Given the description of an element on the screen output the (x, y) to click on. 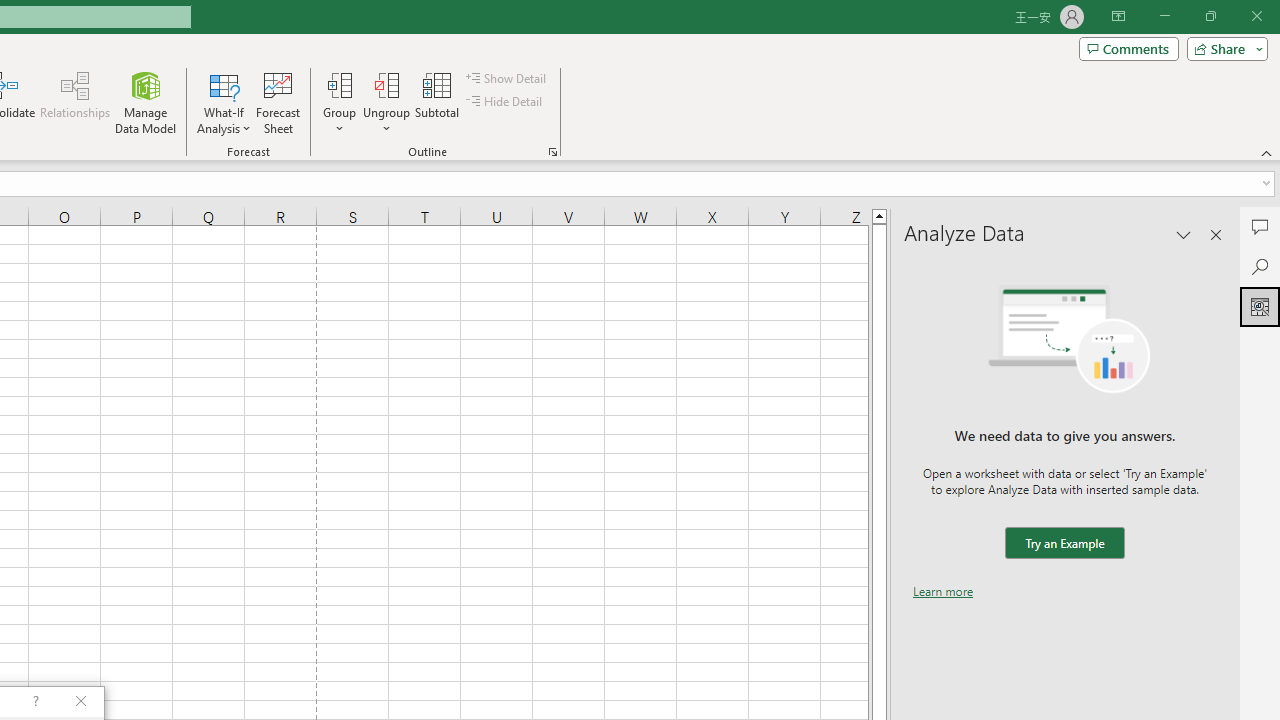
Hide Detail (505, 101)
Group and Outline Settings (552, 151)
Subtotal (437, 102)
Relationships (75, 102)
We need data to give you answers. Try an Example (1064, 543)
Analyze Data (1260, 306)
Show Detail (507, 78)
